Given the description of an element on the screen output the (x, y) to click on. 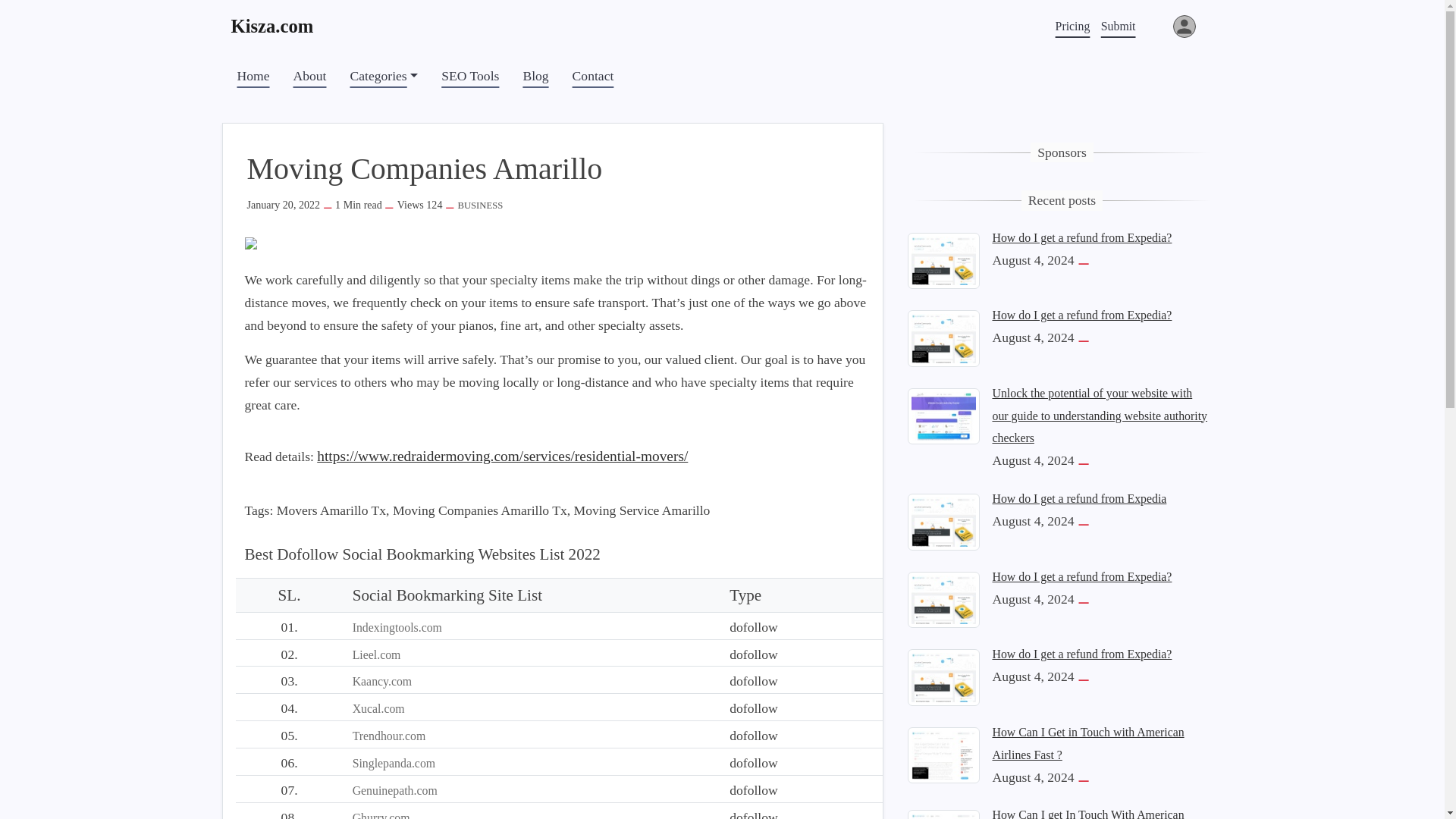
Pricing (1072, 25)
Categories (383, 76)
How Can I Get in Touch with American Airlines Fast ? (943, 753)
Submit (1118, 25)
Genuinepath.com (395, 789)
How do I get a refund from Expedia? (943, 598)
Trendhour.com (389, 735)
How Can I get In Touch With American Airlines Fast? (1087, 813)
Indexingtools.com (397, 626)
Xucal.com (378, 707)
Blog (535, 76)
About (308, 76)
How do I get a refund from Expedia? (943, 676)
